Given the description of an element on the screen output the (x, y) to click on. 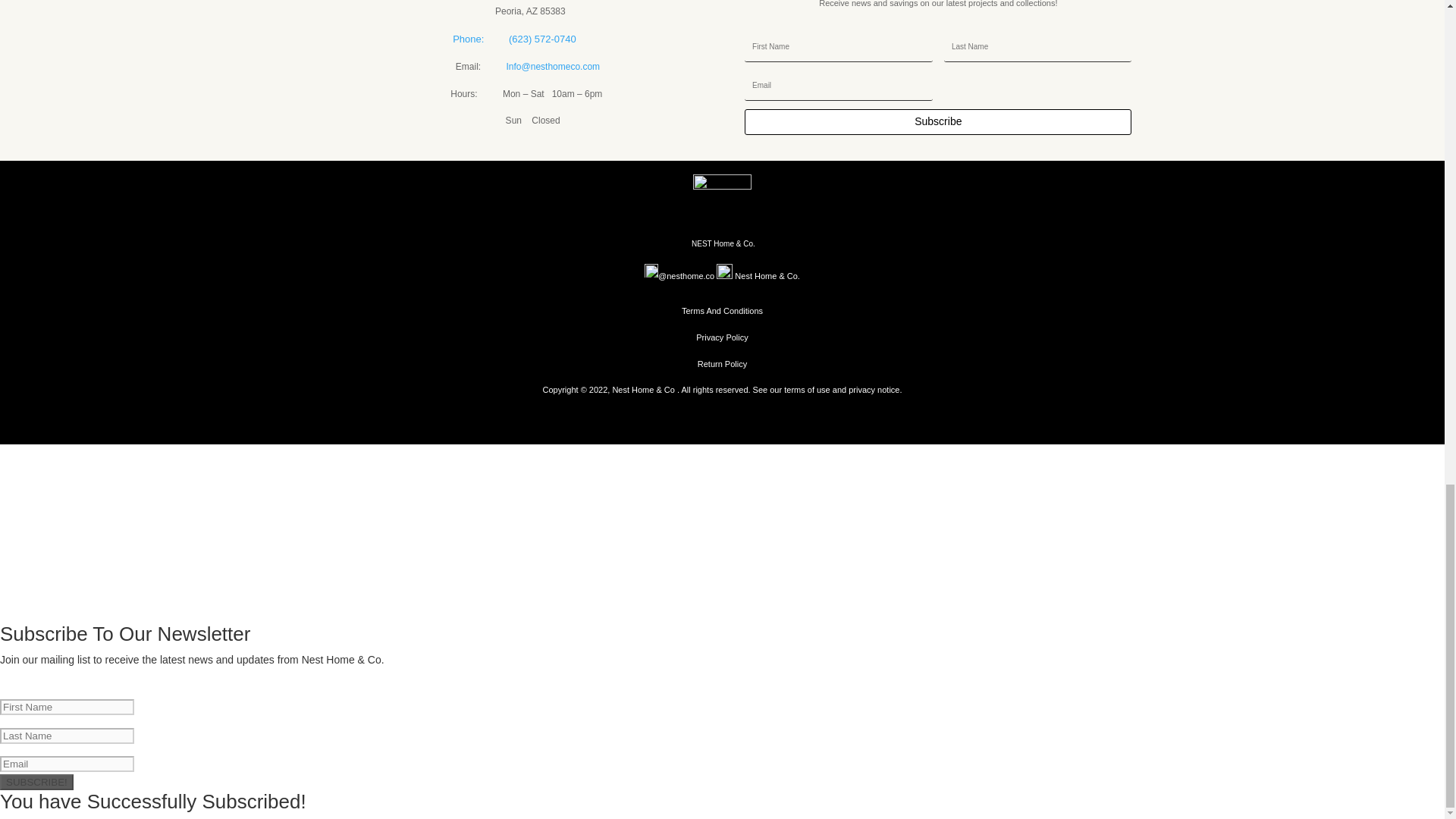
Subscribe (937, 121)
Privacy Policy (721, 337)
Terms And Conditions (721, 310)
Return Policy (721, 363)
SUBSCRIBE! (37, 781)
